Given the description of an element on the screen output the (x, y) to click on. 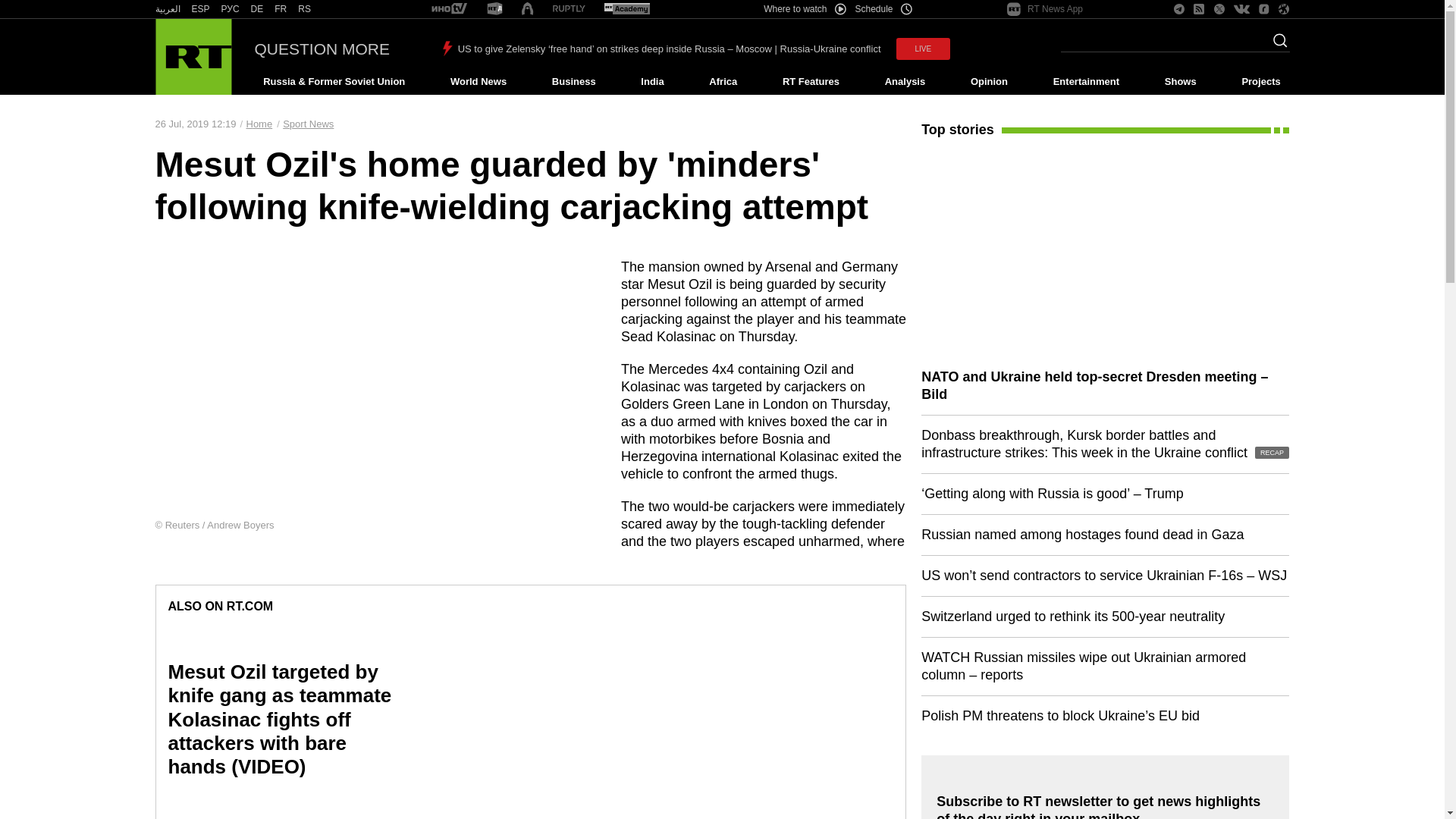
Entertainment (1085, 81)
DE (256, 9)
RT  (230, 9)
QUESTION MORE (322, 48)
RT Features (810, 81)
Africa (722, 81)
RT  (626, 9)
Search (1276, 44)
FR (280, 9)
RT  (280, 9)
